Given the description of an element on the screen output the (x, y) to click on. 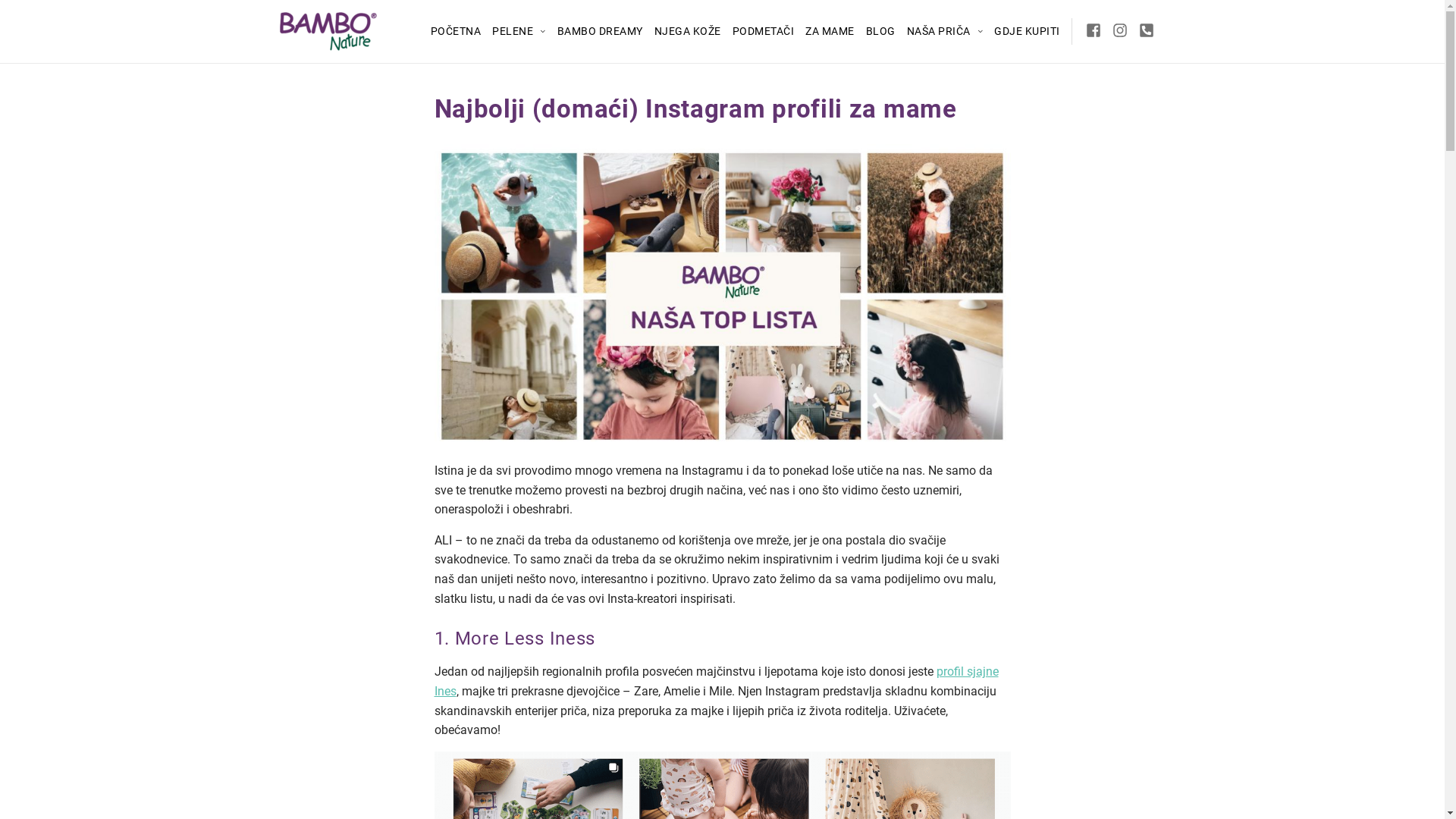
PELENE Element type: text (519, 30)
BAMBO DREAMY Element type: text (599, 30)
ZA MAME Element type: text (829, 30)
profil sjajne Ines Element type: text (715, 681)
BLOG Element type: text (880, 30)
GDJE KUPITI Element type: text (1027, 30)
